Given the description of an element on the screen output the (x, y) to click on. 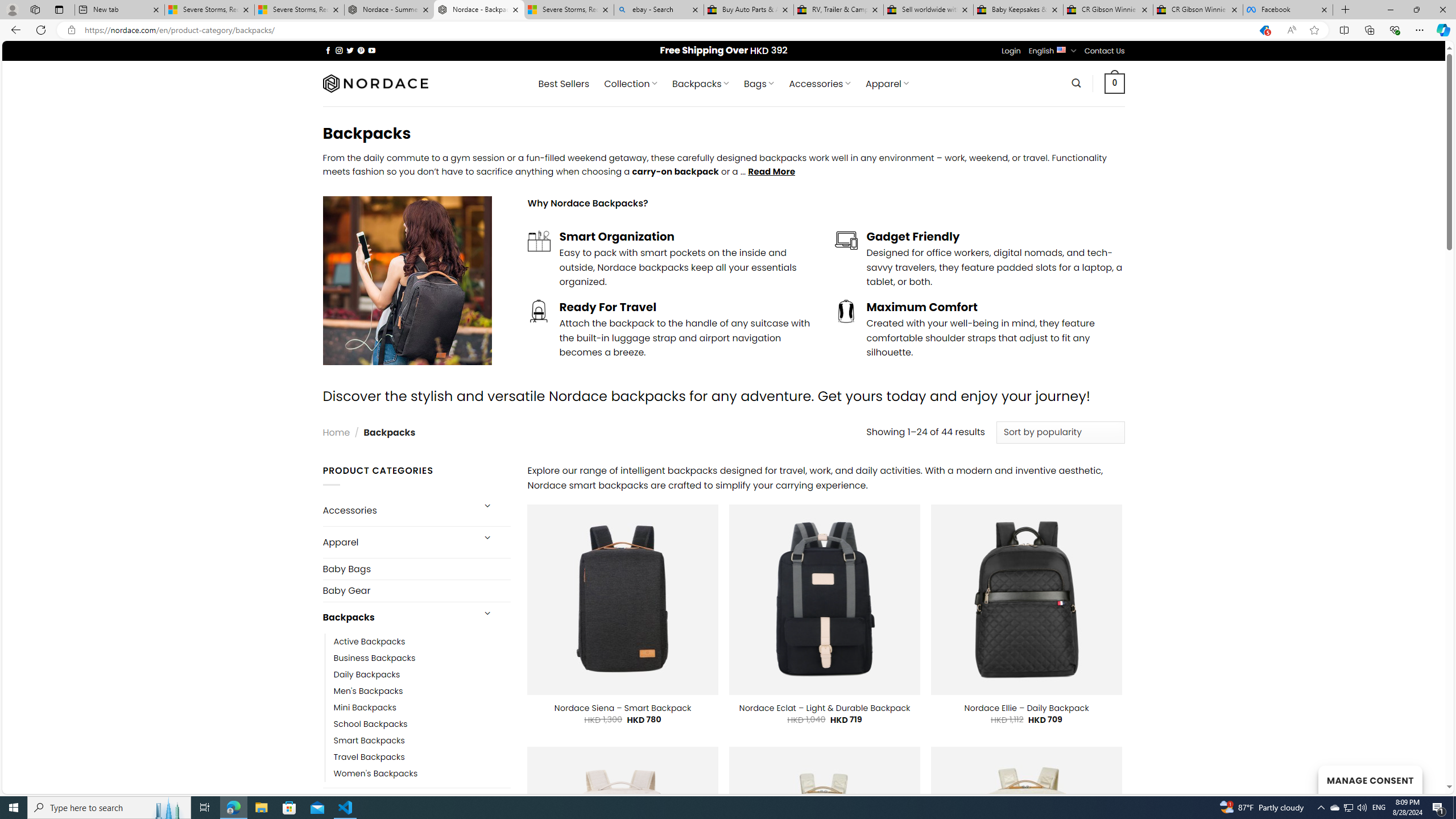
School Backpacks (370, 723)
Read More (771, 171)
Travel Backpacks (368, 756)
Baby Gear (416, 590)
Active Backpacks (422, 641)
Shop order (1060, 432)
Apparel (397, 542)
